Given the description of an element on the screen output the (x, y) to click on. 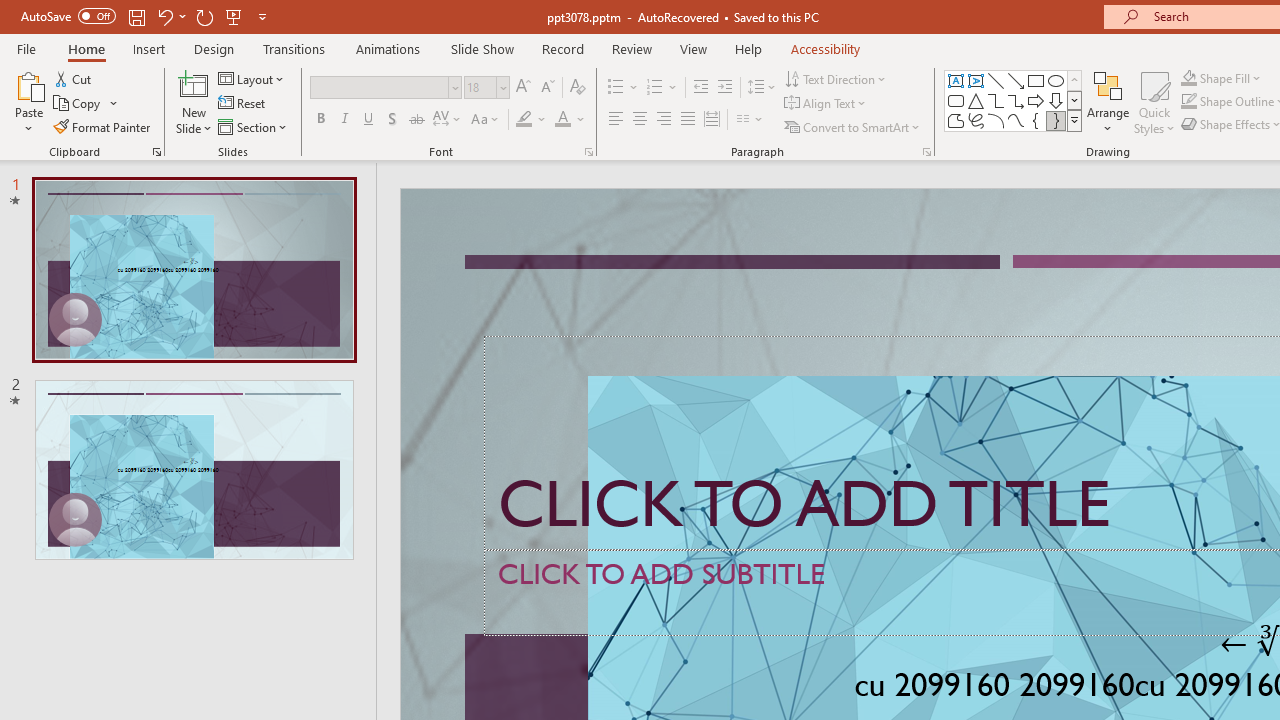
Shape Outline Green, Accent 1 (1188, 101)
